Given the description of an element on the screen output the (x, y) to click on. 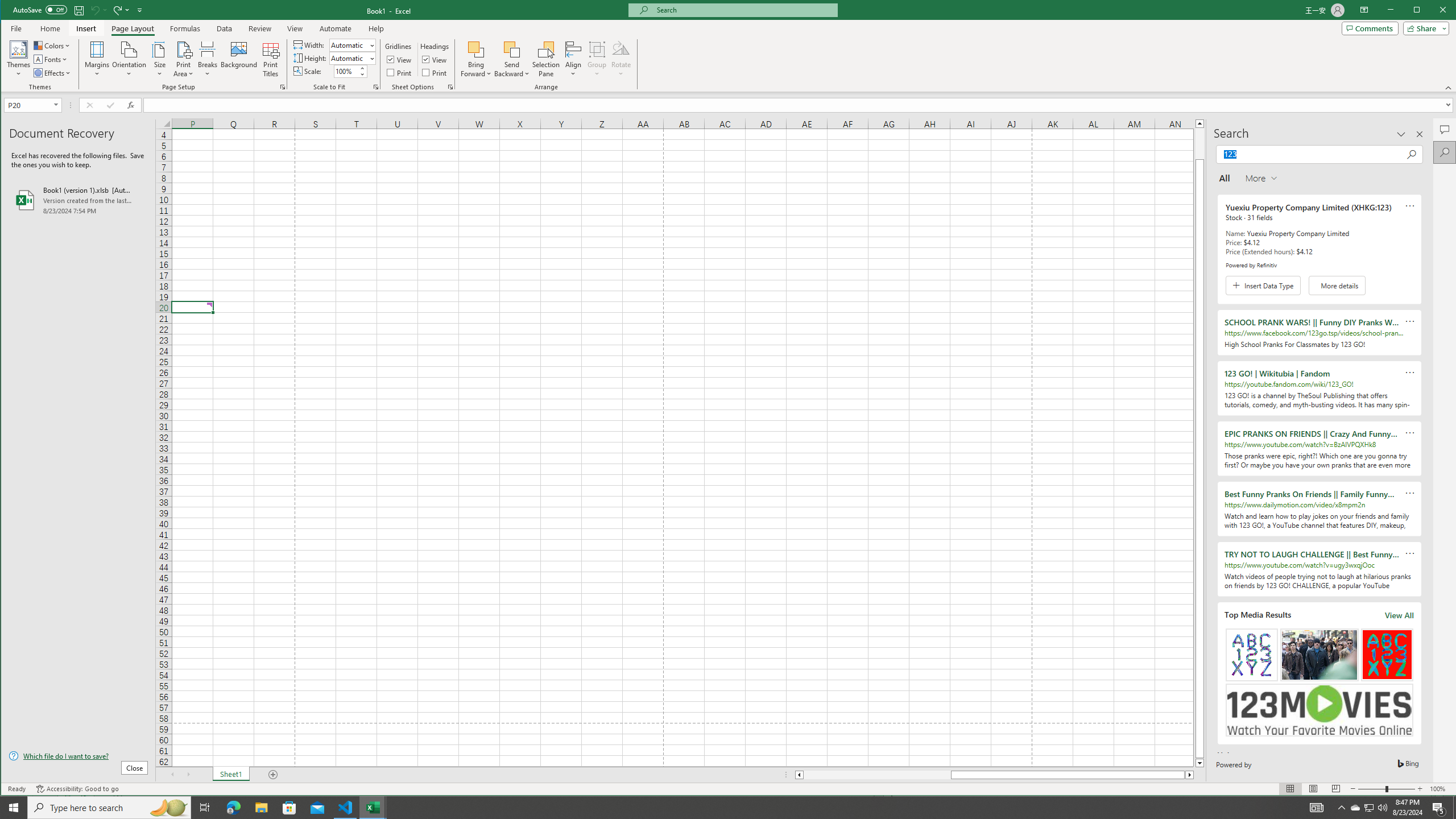
Sheet Options (449, 86)
Microsoft Store (289, 807)
File Explorer (261, 807)
User Promoted Notification Area (1368, 807)
Margins (96, 59)
Group (596, 59)
